Given the description of an element on the screen output the (x, y) to click on. 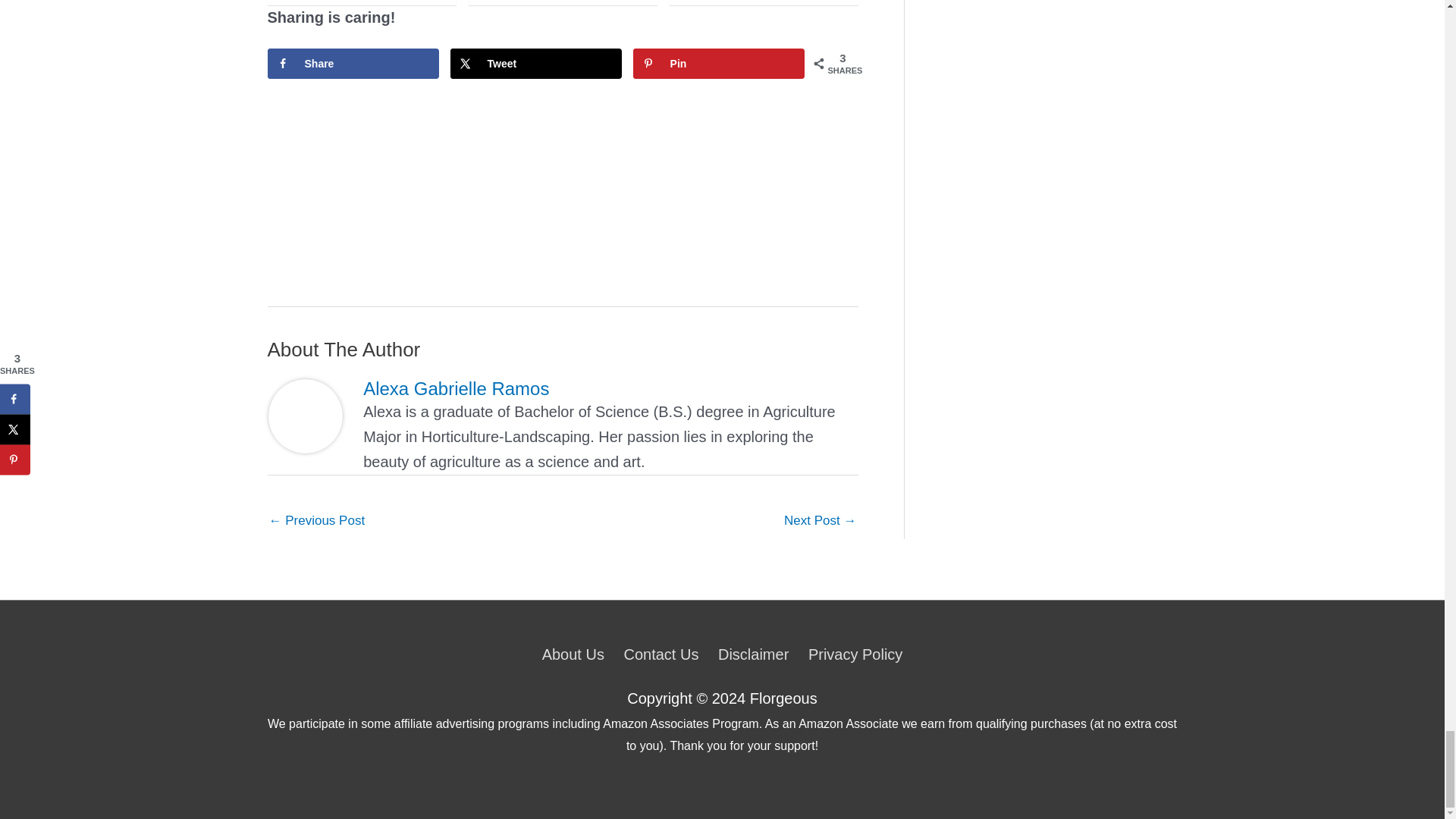
Share on Facebook (352, 63)
Share on X (536, 63)
Growing and Caring for Anthurium Plant (820, 521)
Save to Pinterest (719, 63)
